Given the description of an element on the screen output the (x, y) to click on. 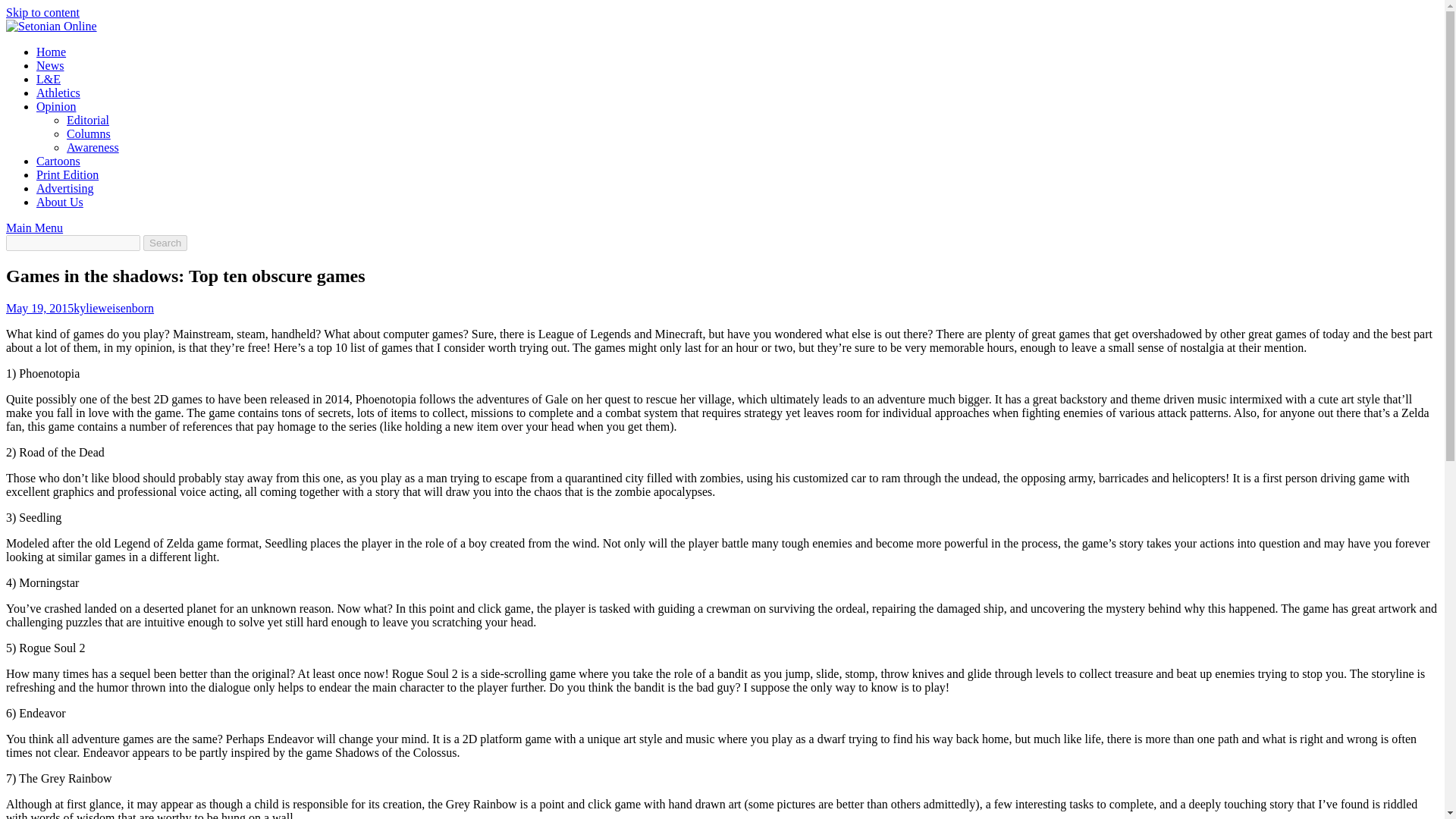
Home (50, 51)
Editorial (87, 119)
Opinion (55, 106)
Search (164, 242)
Cartoons (58, 160)
Print Edition (67, 174)
Skip to content (42, 11)
Athletics (58, 92)
News (50, 65)
Search (164, 242)
Main Menu (33, 227)
Advertising (65, 187)
kylieweisenborn (114, 308)
About Us (59, 201)
Columns (88, 133)
